Given the description of an element on the screen output the (x, y) to click on. 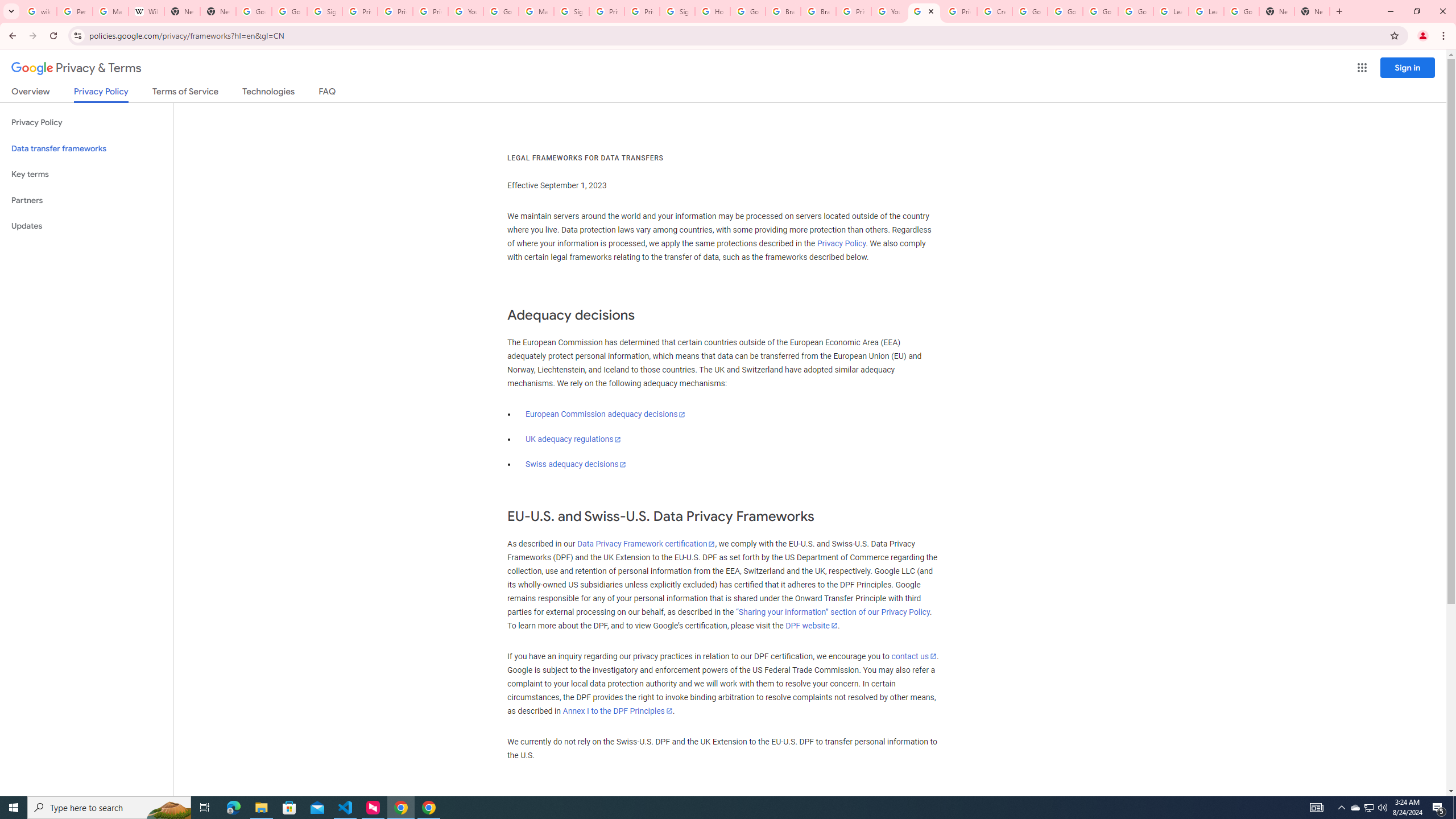
Google Account (1240, 11)
Personalization & Google Search results - Google Search Help (74, 11)
Sign in - Google Accounts (677, 11)
Google Account Help (1029, 11)
Wikipedia:Edit requests - Wikipedia (145, 11)
European Commission adequacy decisions (605, 414)
Brand Resource Center (817, 11)
YouTube (465, 11)
